Given the description of an element on the screen output the (x, y) to click on. 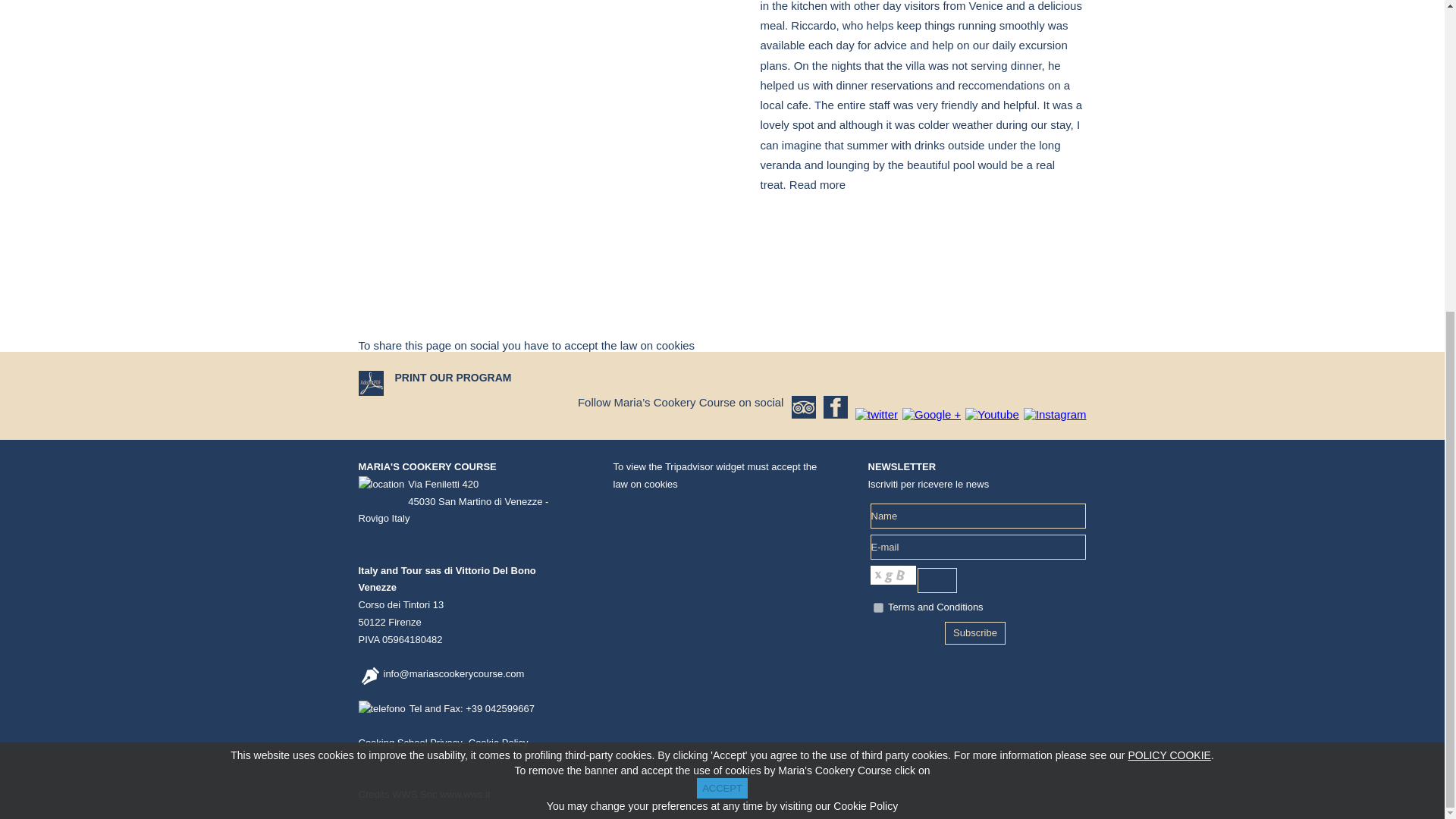
on (878, 607)
E-mail (978, 546)
Read more (817, 184)
Terms and Conditions (936, 606)
Please enter the security code displayed in the image (936, 580)
ACCEPT (722, 291)
Subscribe (975, 632)
POLICY COOKIE (1167, 258)
informativa Cookie (1167, 258)
Cookie Policy (498, 742)
